Given the description of an element on the screen output the (x, y) to click on. 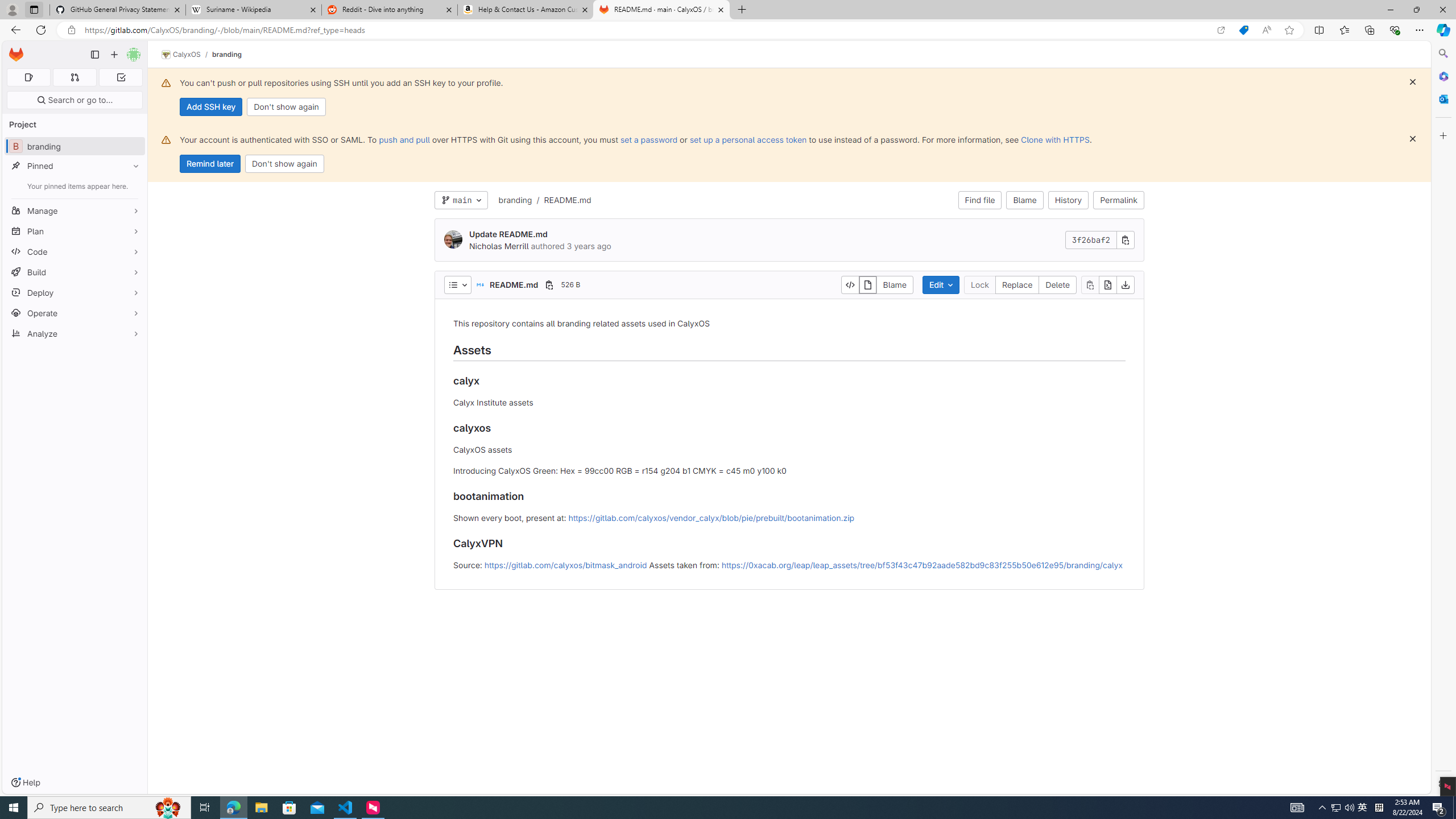
Deploy (74, 292)
Nicholas Merrill's avatar (453, 239)
Pinned (74, 165)
Add SSH key (211, 106)
Copy file path (549, 285)
Code (74, 251)
Replace (1016, 285)
Display source (849, 285)
